Given the description of an element on the screen output the (x, y) to click on. 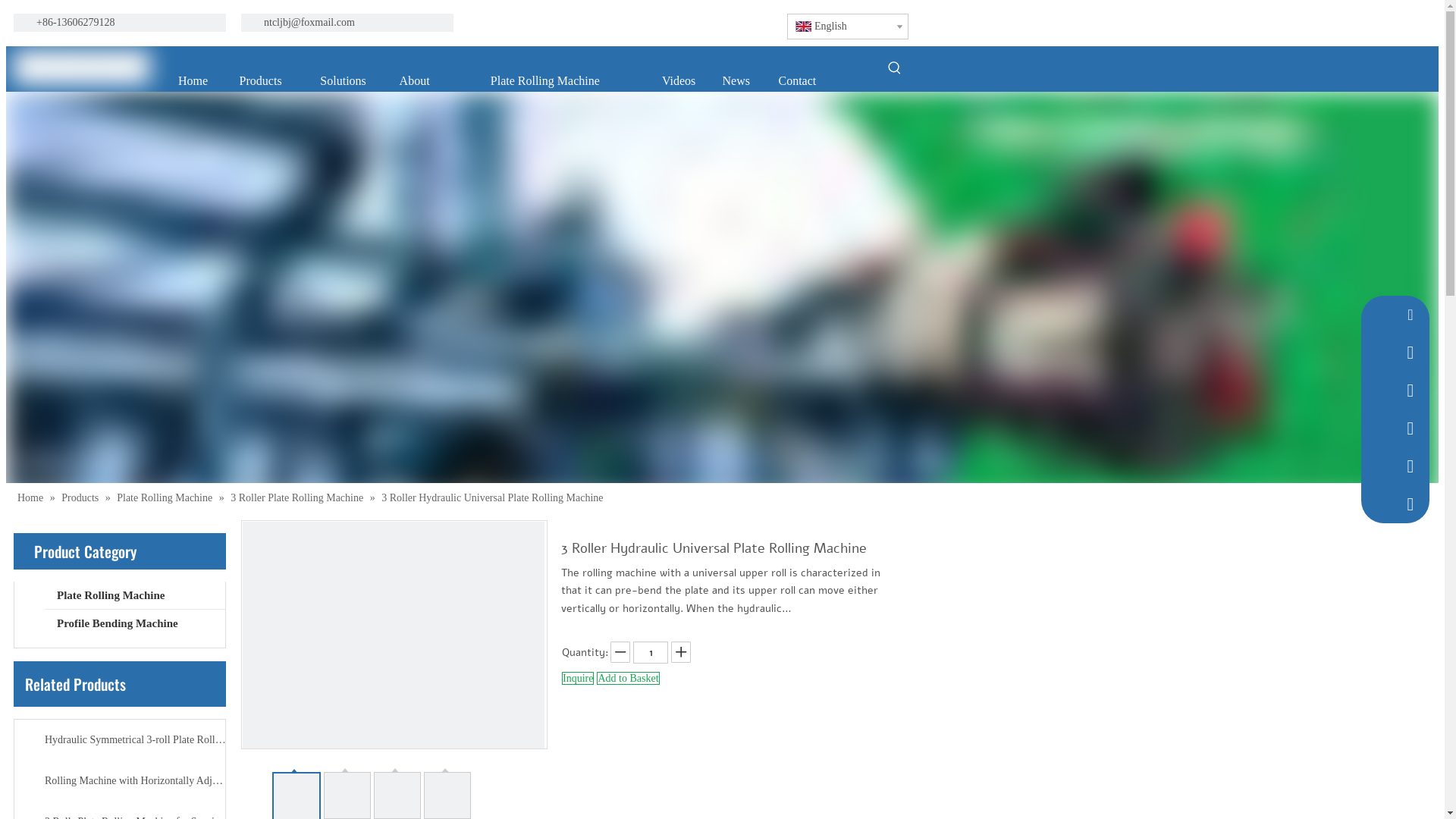
Contact Element type: text (797, 80)
Home Element type: text (31, 497)
Linkedin Element type: hover (591, 22)
Twitter Element type: hover (616, 22)
Plate Rolling Machine Element type: text (134, 594)
Plate Rolling Machine Element type: text (165, 497)
ntcljbj@foxmail.com Element type: text (308, 22)
Add to Basket Element type: text (627, 677)
News Element type: text (736, 80)
Solutions Element type: text (342, 80)
Inquire Element type: text (577, 677)
3 Roller Plate Rolling Machine Element type: text (297, 497)
About Element type: text (413, 80)
Home Element type: text (192, 80)
Profile Bending Machine Element type: text (134, 623)
Youtube Element type: hover (641, 22)
Videos Element type: text (678, 80)
Plate Rolling Machine Element type: text (544, 80)
Instagram Element type: hover (667, 22)
Hydraulic Symmetrical 3-roll Plate Rolling Machine W11Y Element type: text (135, 740)
Products Element type: text (81, 497)
Products Element type: text (260, 80)
Facebook Element type: hover (565, 22)
